Given the description of an element on the screen output the (x, y) to click on. 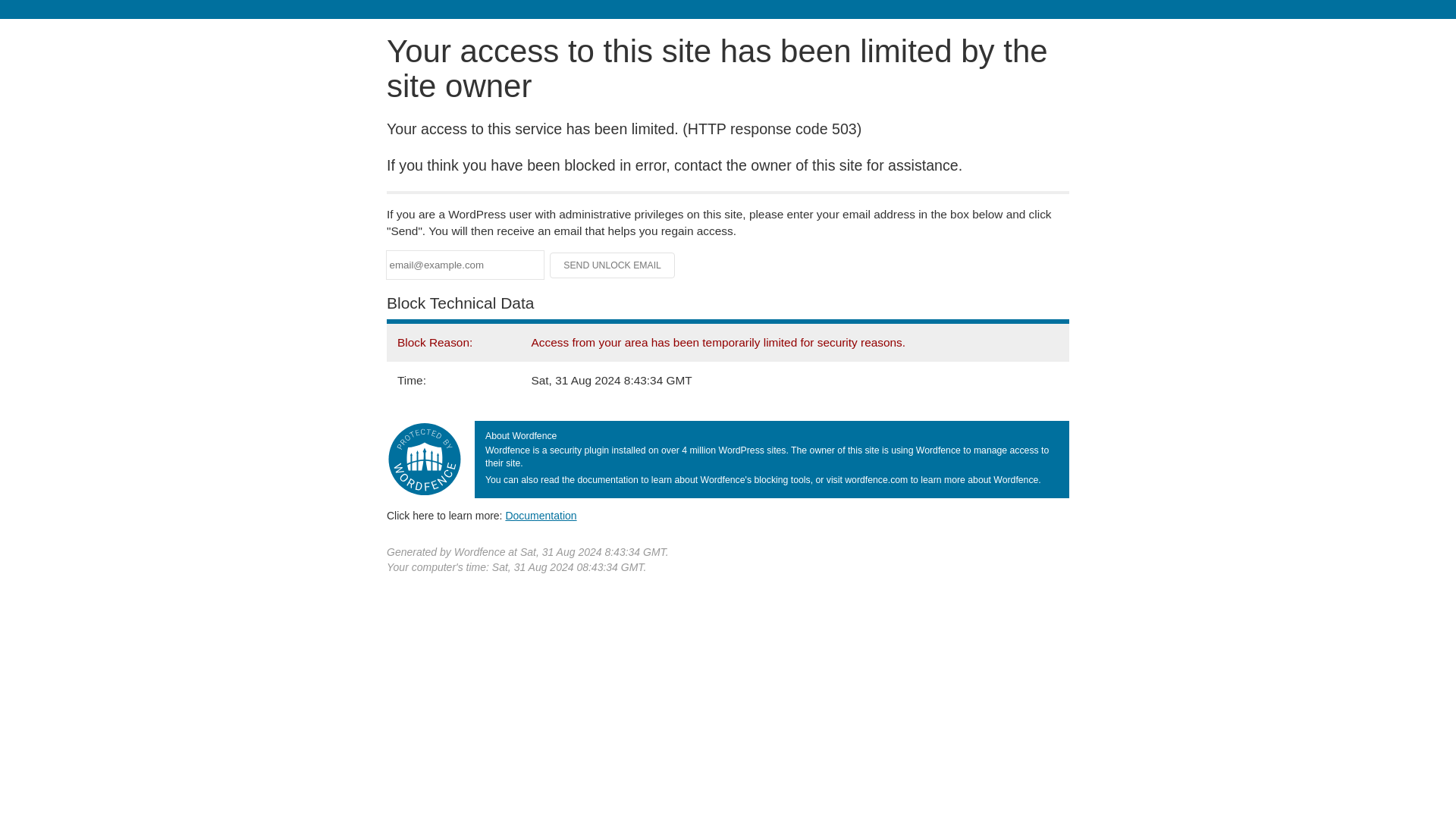
Send Unlock Email (612, 265)
Send Unlock Email (612, 265)
Documentation (540, 515)
